Given the description of an element on the screen output the (x, y) to click on. 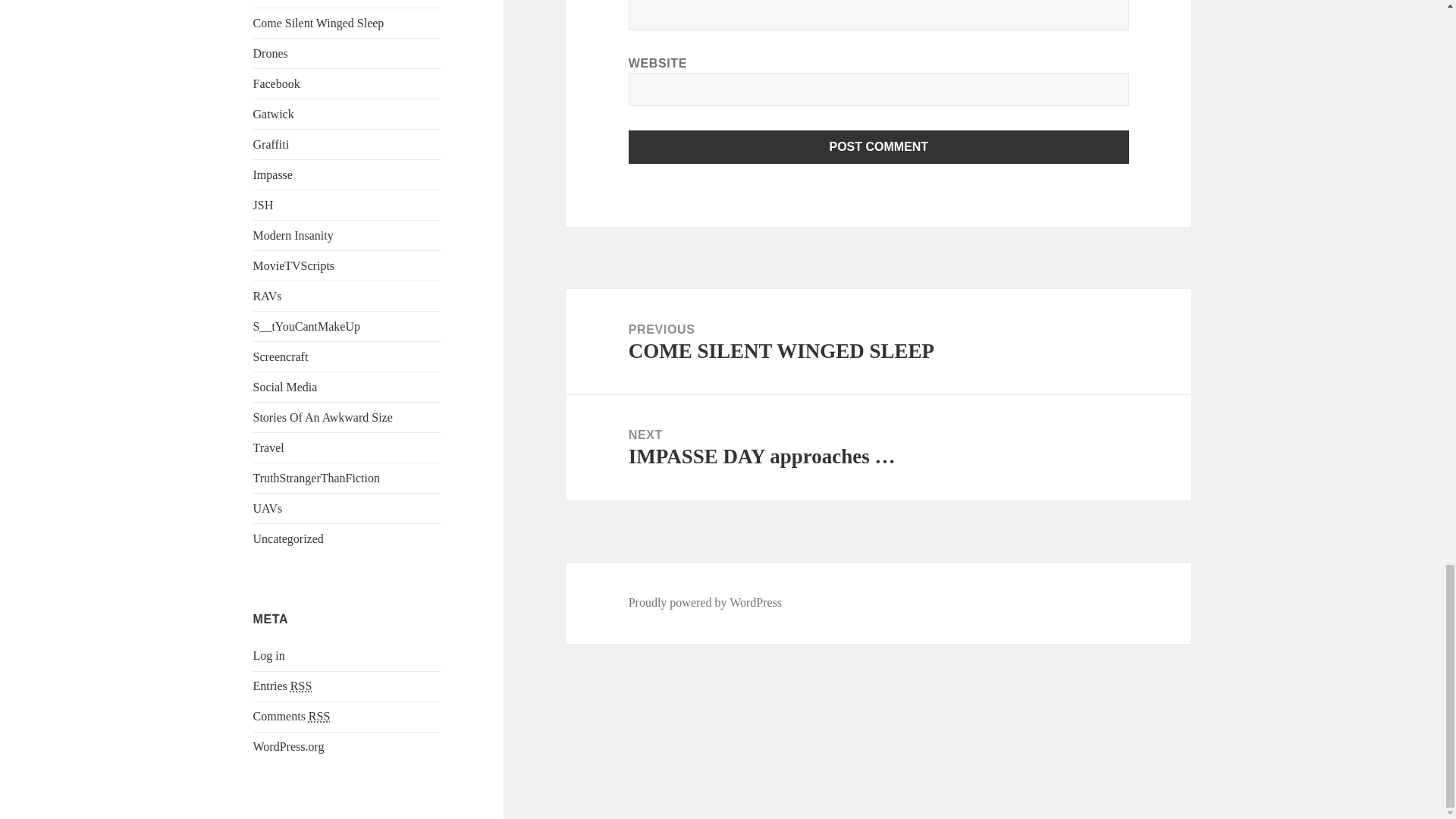
Really Simple Syndication (300, 685)
Really Simple Syndication (319, 716)
Post Comment (878, 146)
Gatwick (273, 113)
Graffiti (271, 144)
Drones (270, 52)
Come Silent Winged Sleep (318, 22)
Facebook (276, 83)
